Given the description of an element on the screen output the (x, y) to click on. 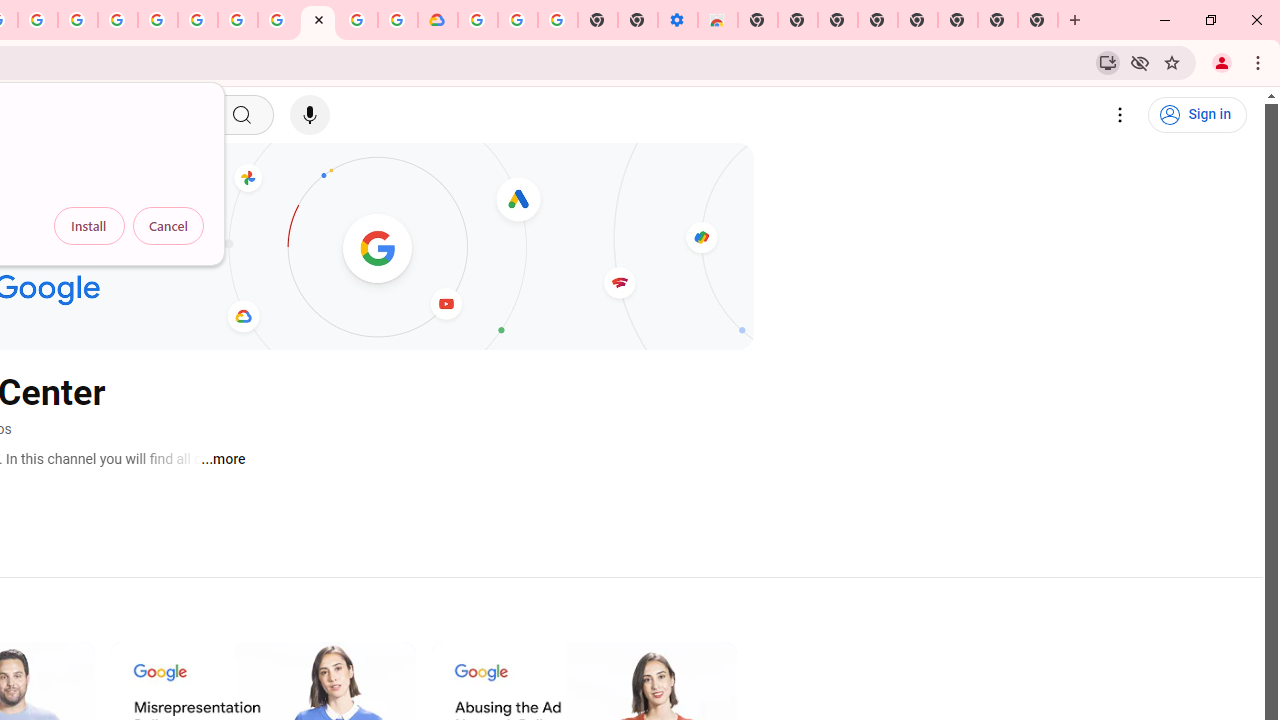
Install (89, 225)
Sign in - Google Accounts (157, 20)
Turn cookies on or off - Computer - Google Account Help (557, 20)
Chrome Web Store - Accessibility extensions (717, 20)
Android TV Policies and Guidelines - Transparency Center (278, 20)
New Tab (758, 20)
Search with your voice (309, 115)
Google Transparency Center - YouTube (317, 20)
